Given the description of an element on the screen output the (x, y) to click on. 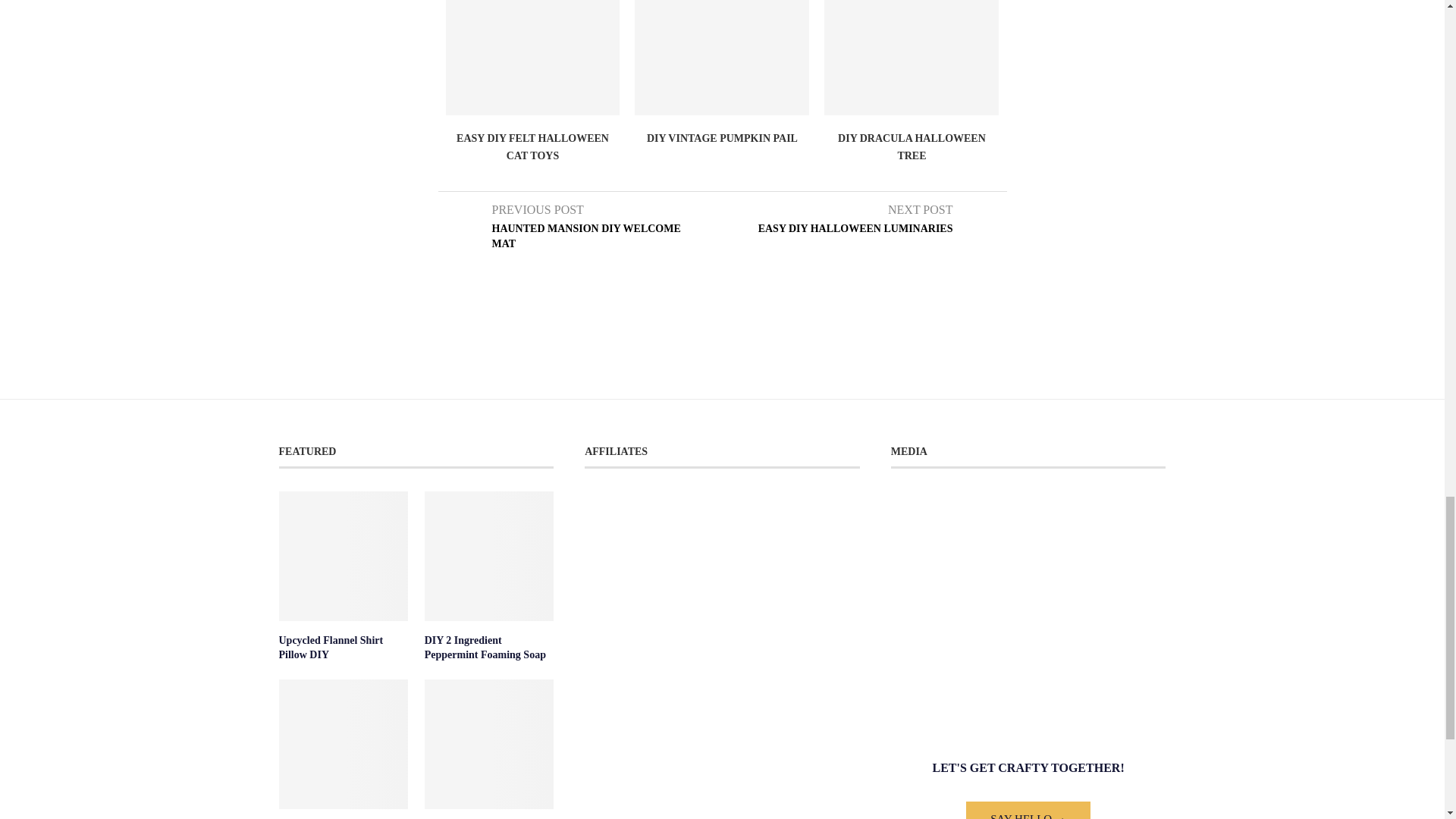
DIY Dracula Halloween Tree (911, 57)
DIY VINTAGE PUMPKIN PAIL (721, 138)
DIY Vintage Pumpkin Pail (721, 57)
DIY DRACULA HALLOWEEN TREE (911, 147)
EASY DIY FELT HALLOWEEN CAT TOYS (532, 147)
Easy DIY Felt Halloween Cat Toys (532, 57)
